Given the description of an element on the screen output the (x, y) to click on. 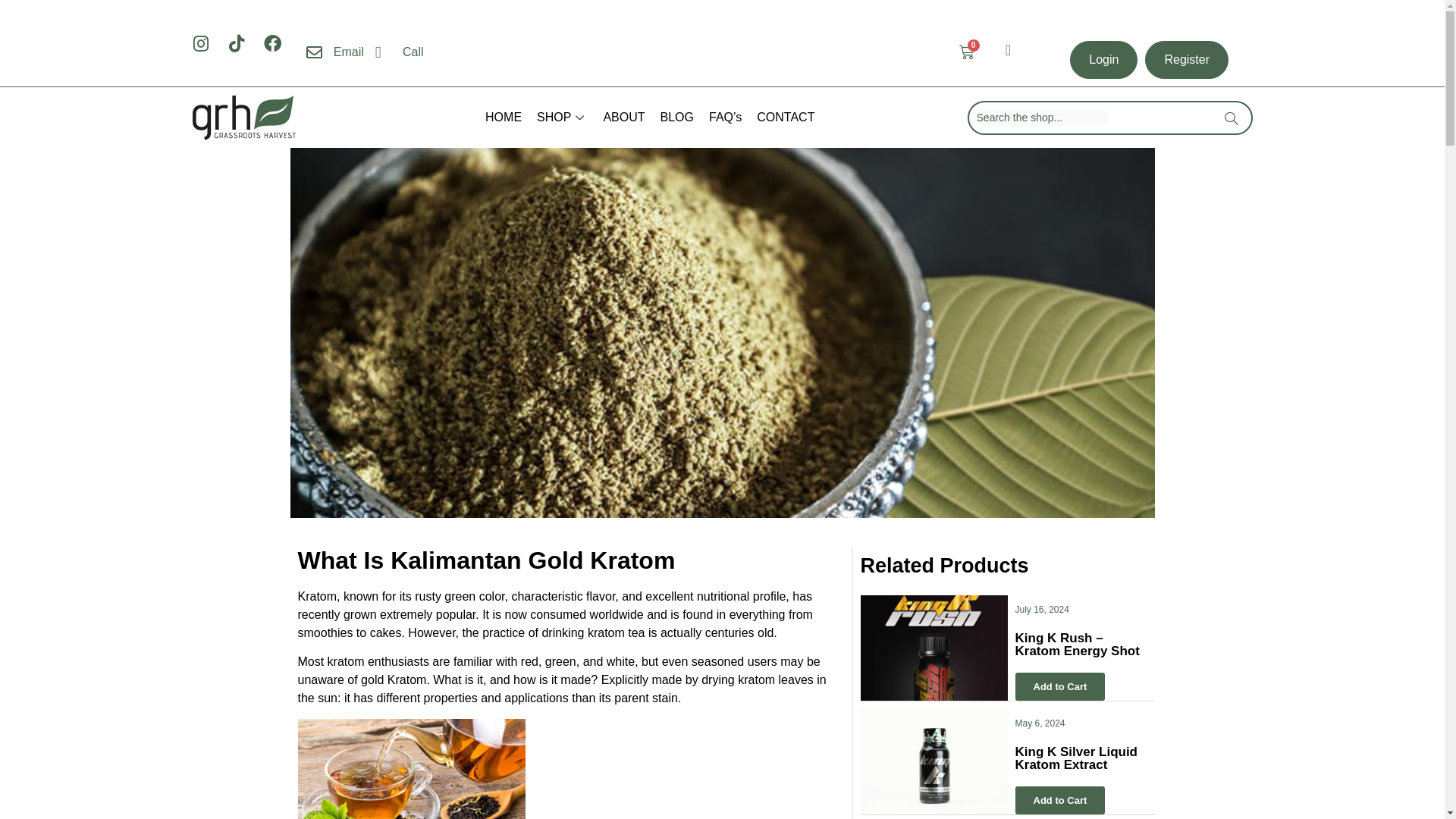
Group 75 (243, 117)
